Given the description of an element on the screen output the (x, y) to click on. 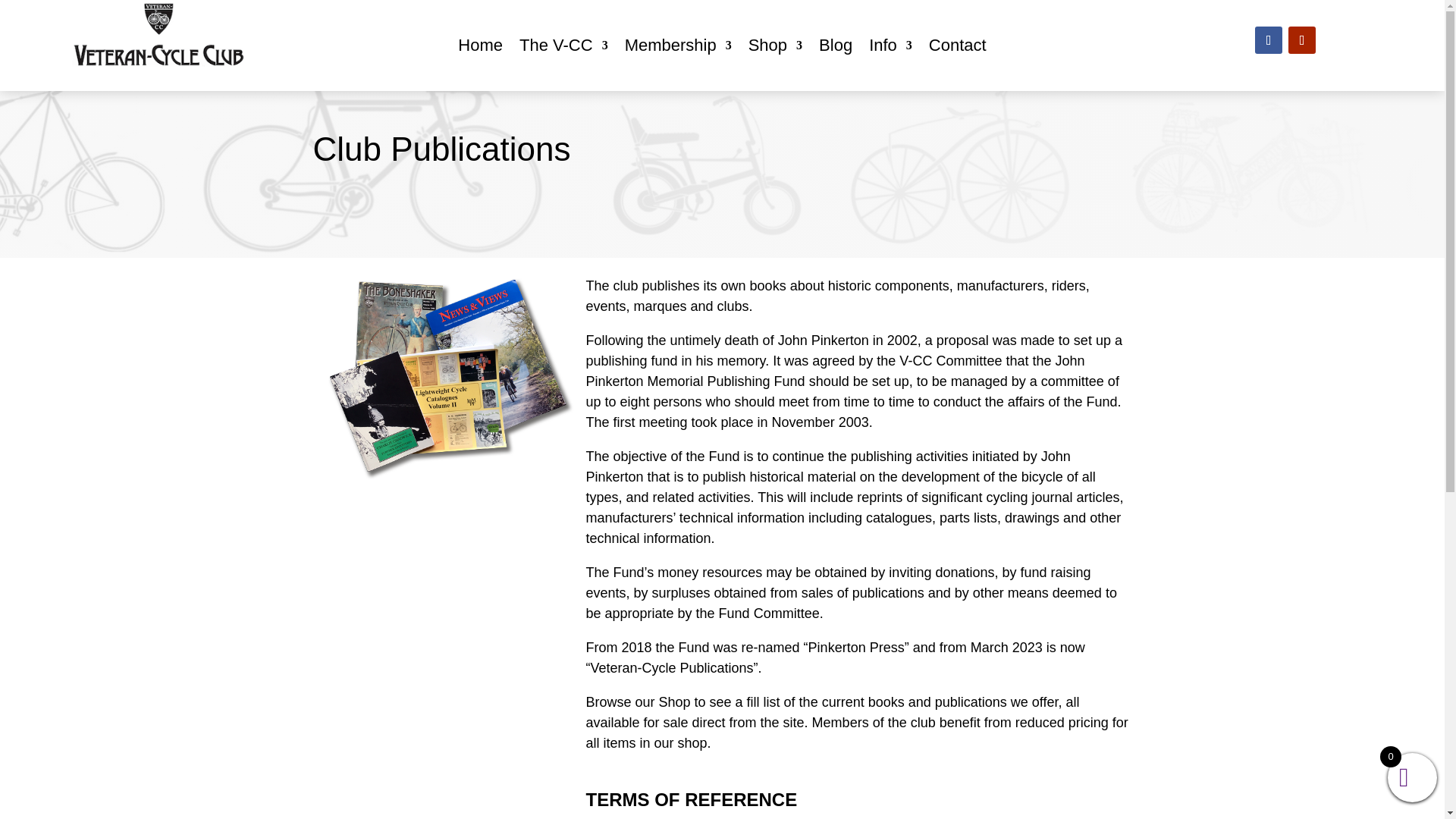
Publications (449, 476)
Follow on Facebook (1268, 40)
Contact (957, 48)
Home (480, 48)
Blog (834, 48)
publications-on-white (449, 378)
Follow on Youtube (1302, 40)
Info (890, 48)
Shop (775, 48)
Membership (678, 48)
